Given the description of an element on the screen output the (x, y) to click on. 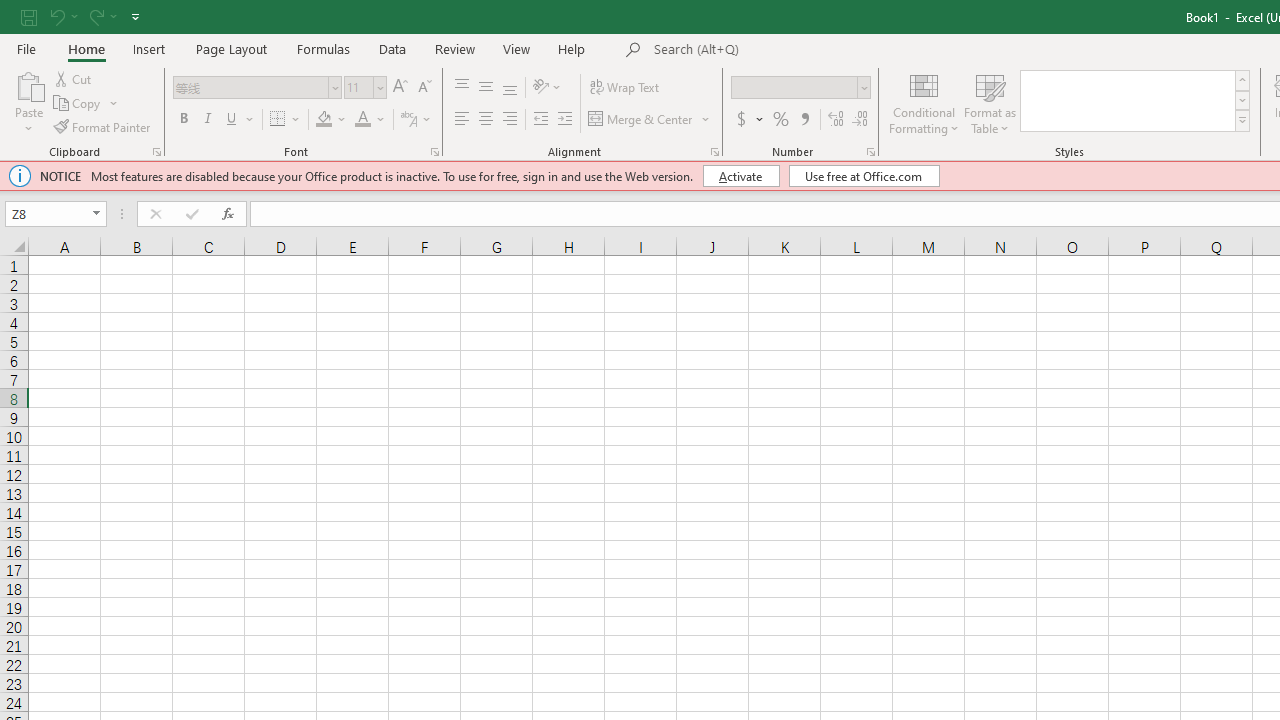
Align Left (461, 119)
Orientation (547, 87)
Font Color (362, 119)
Top Align (461, 87)
Center (485, 119)
